Given the description of an element on the screen output the (x, y) to click on. 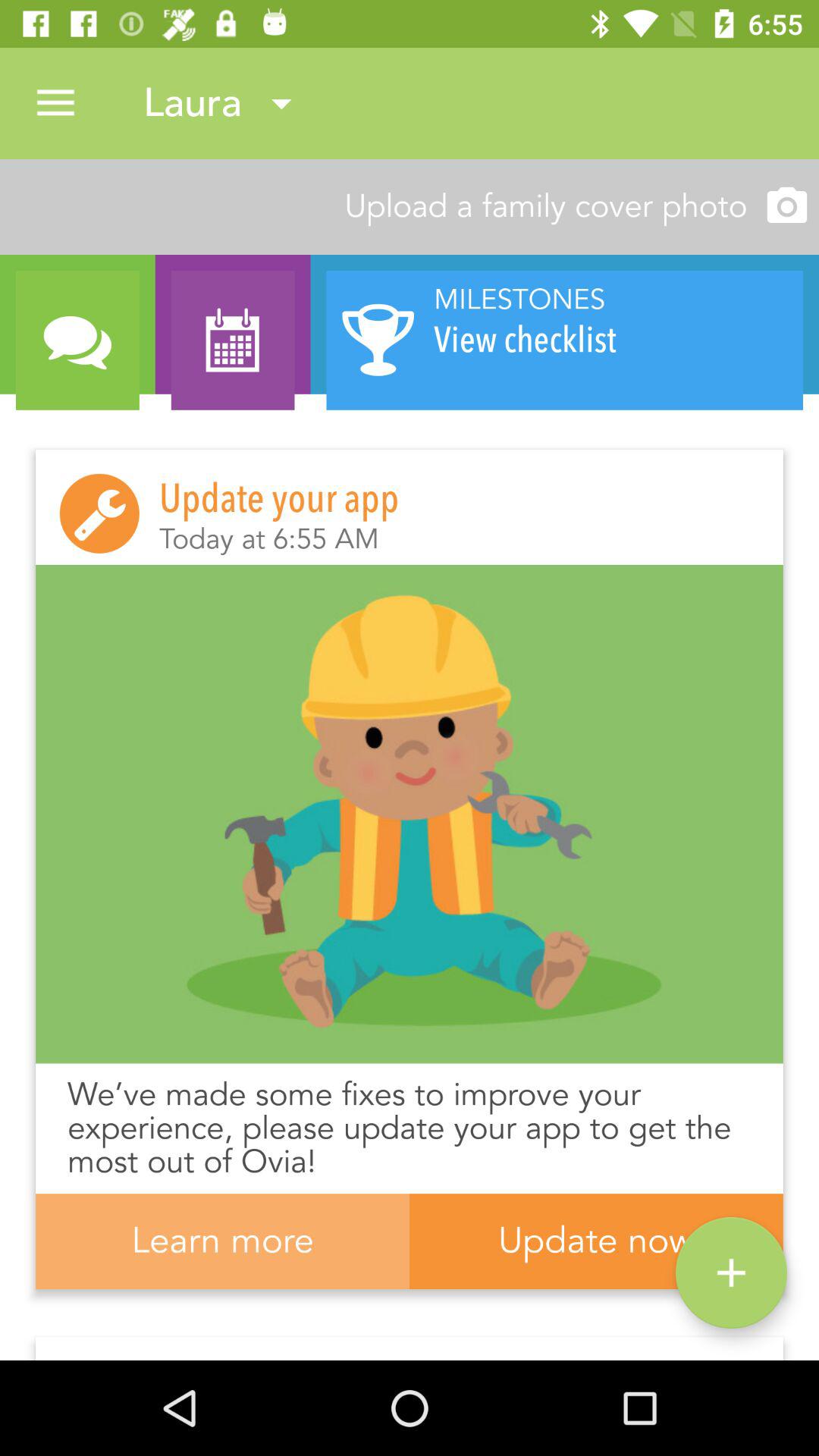
press upload a family (409, 206)
